Given the description of an element on the screen output the (x, y) to click on. 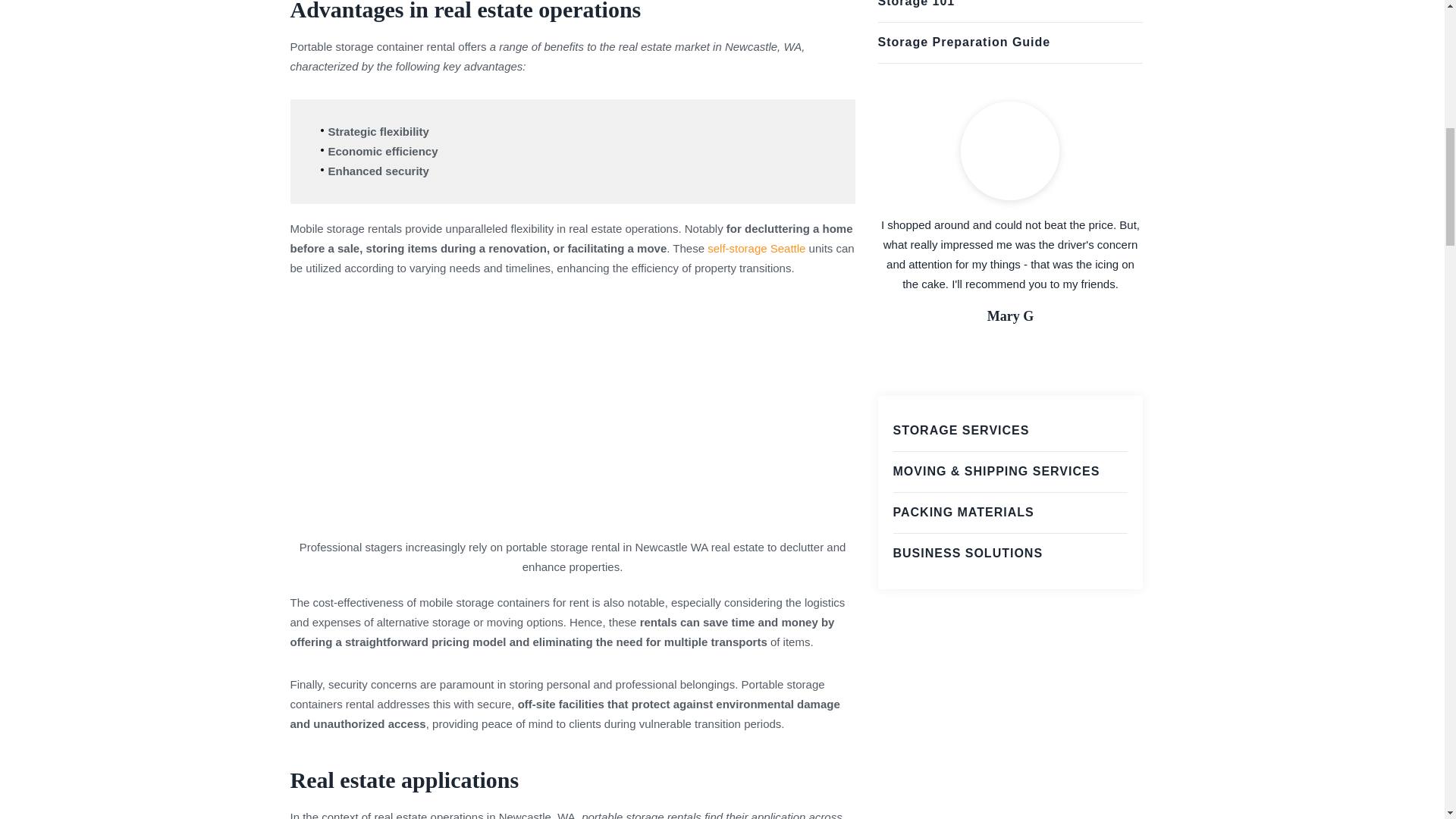
Storage Preparation Guide (973, 41)
Storage 101 (925, 5)
self-storage Seattle (756, 247)
